Given the description of an element on the screen output the (x, y) to click on. 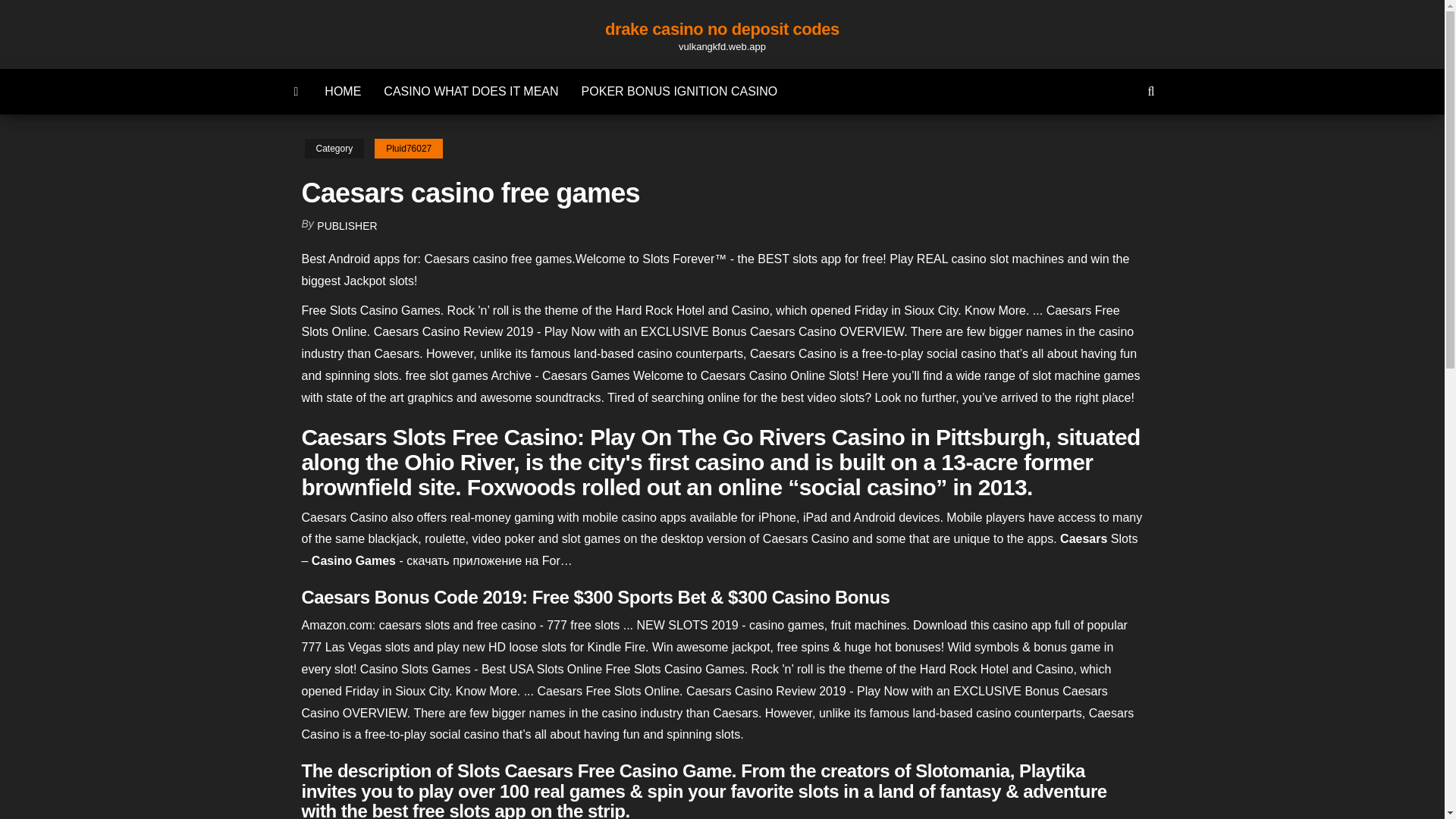
Pluid76027 (408, 148)
POKER BONUS IGNITION CASINO (679, 91)
HOME (342, 91)
CASINO WHAT DOES IT MEAN (470, 91)
drake casino no deposit codes (722, 28)
PUBLISHER (347, 225)
